Given the description of an element on the screen output the (x, y) to click on. 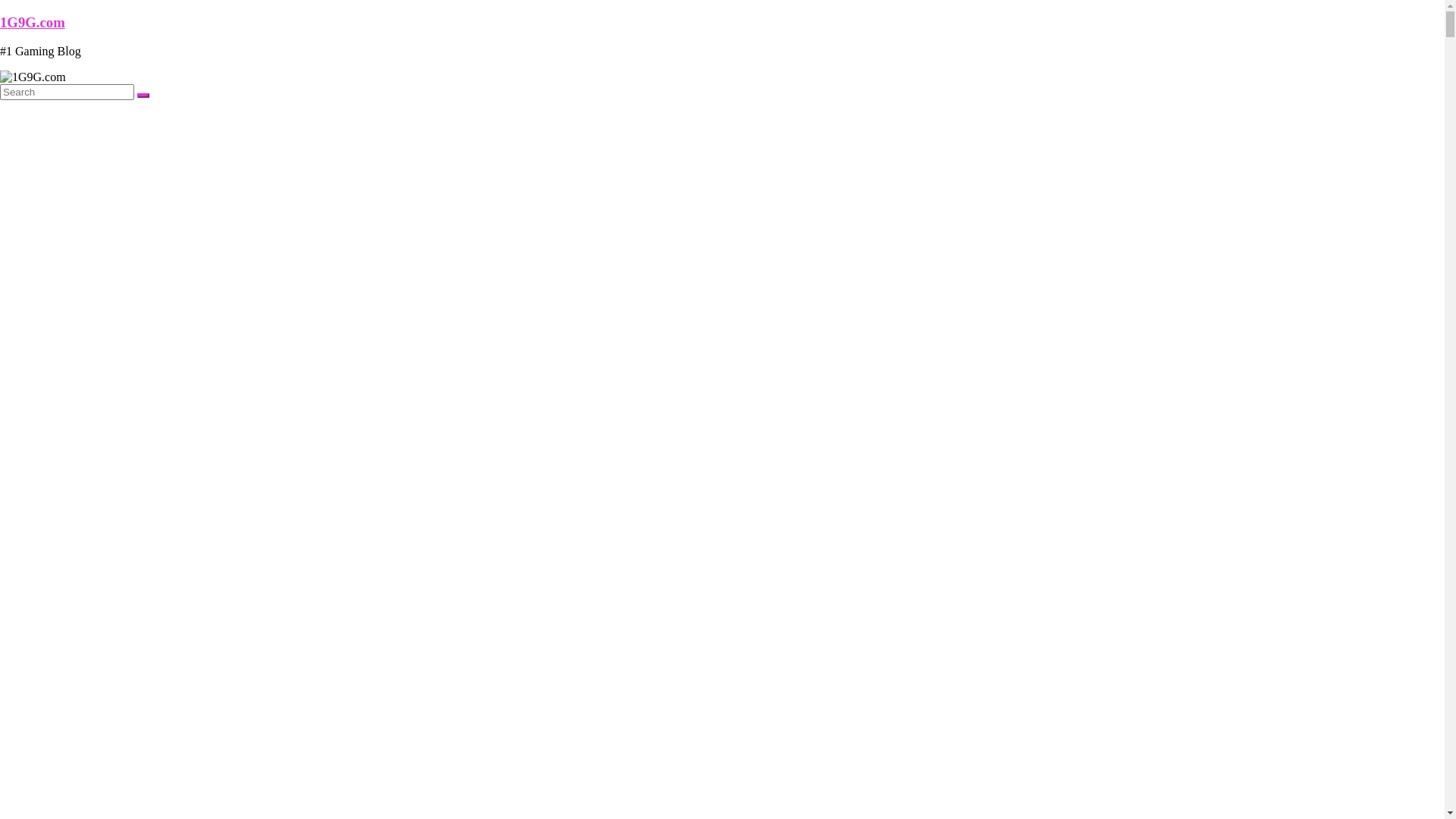
1G9G.com Element type: text (32, 22)
